Given the description of an element on the screen output the (x, y) to click on. 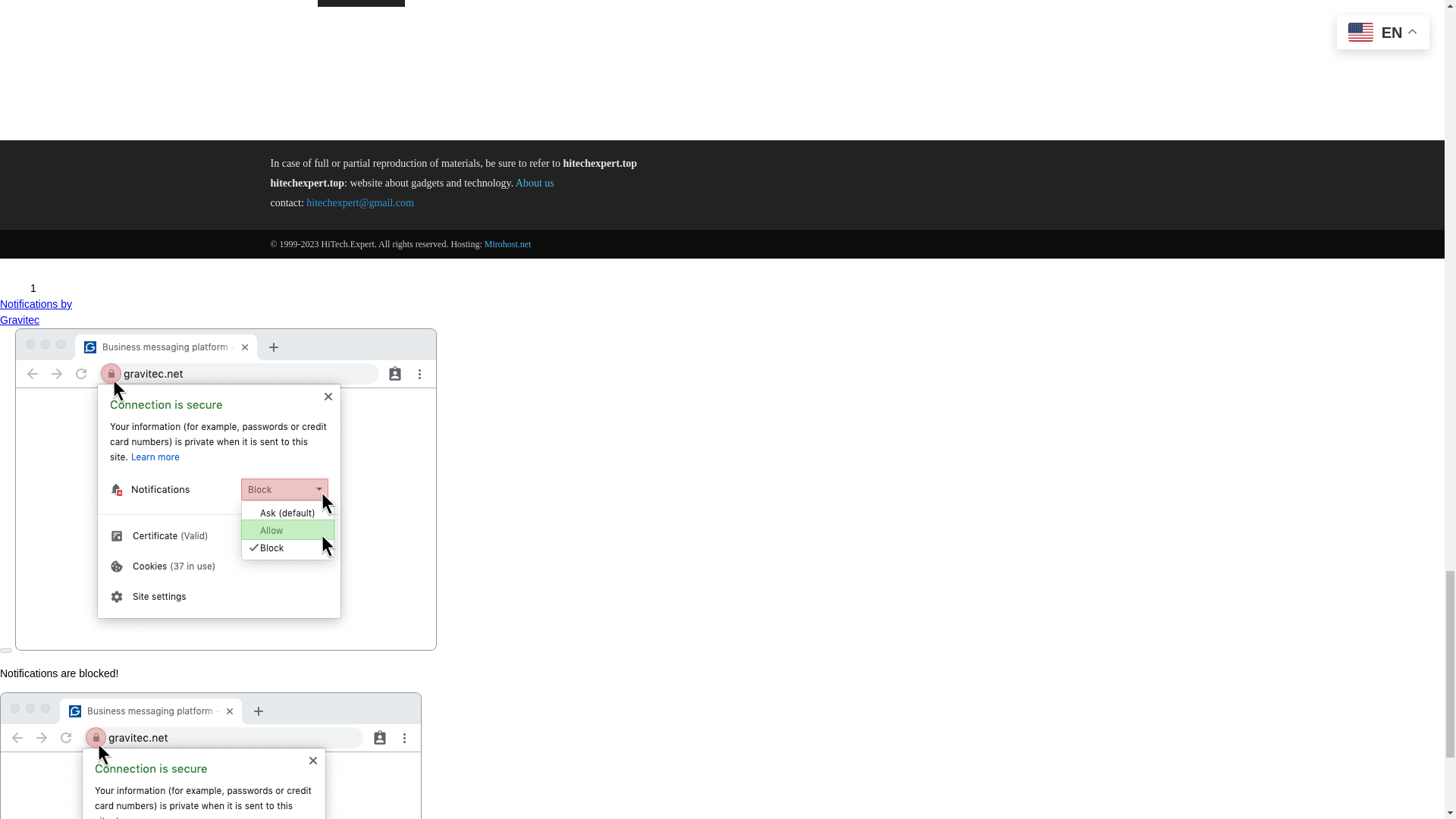
Post Comment (360, 3)
